Given the description of an element on the screen output the (x, y) to click on. 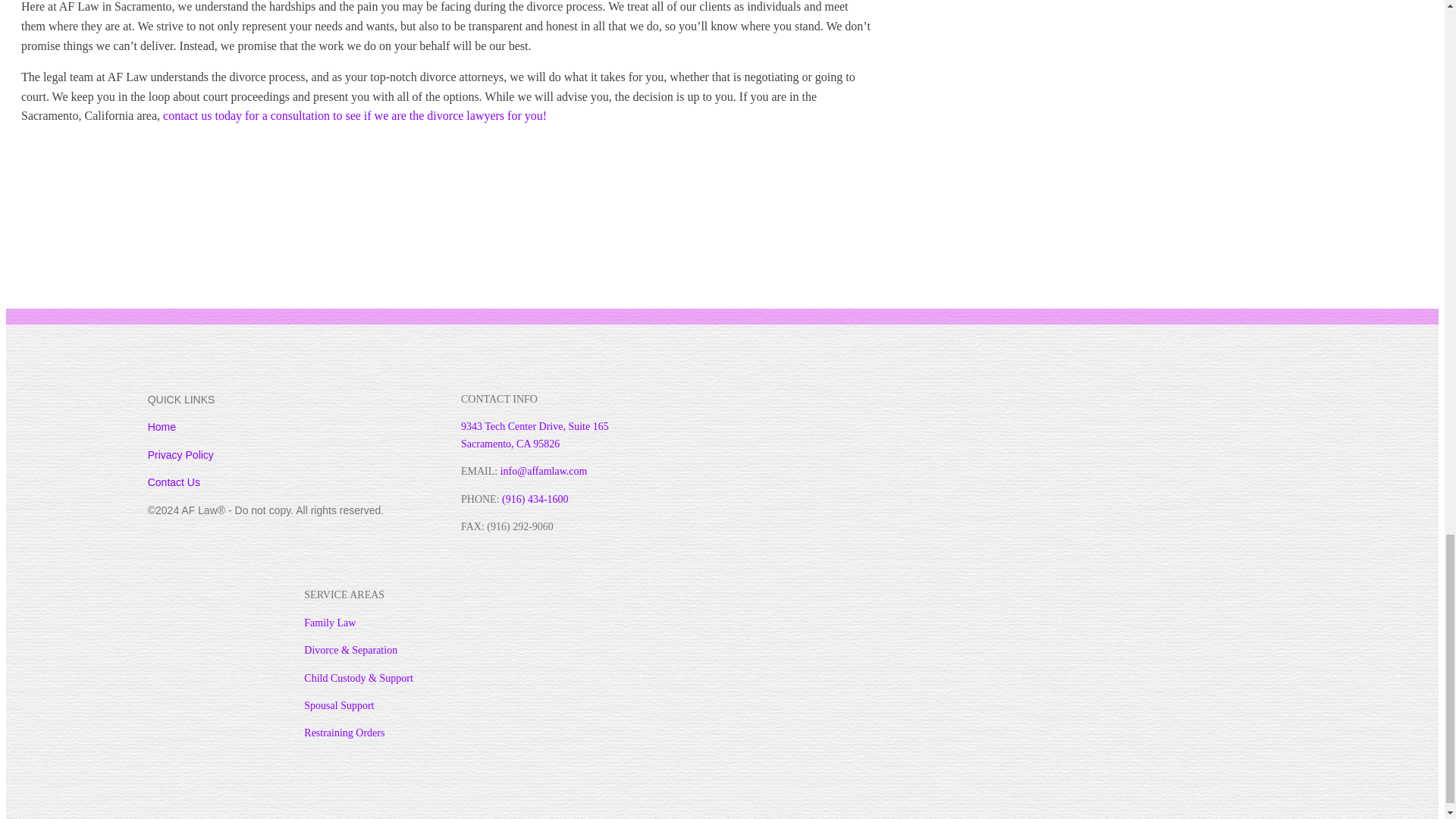
Contact Us (174, 481)
Home (162, 426)
Spousal Support (339, 705)
Privacy Policy (181, 454)
Restraining Orders (344, 732)
Family Law (329, 622)
